Given the description of an element on the screen output the (x, y) to click on. 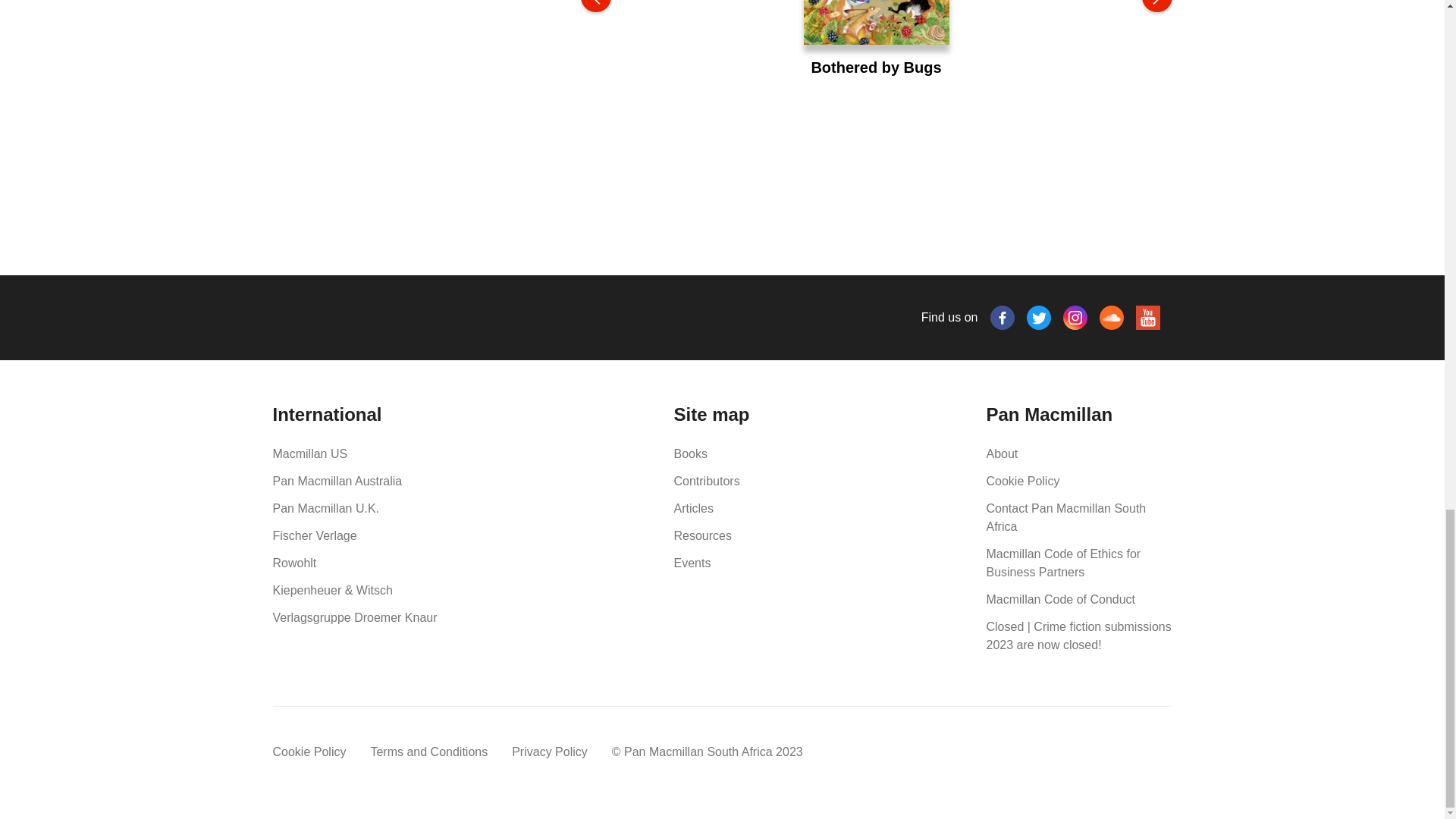
Twitter (1038, 317)
SoundCloud (1111, 317)
YouTube (1147, 317)
Instagram (1074, 317)
Facebook (1002, 317)
